Given the description of an element on the screen output the (x, y) to click on. 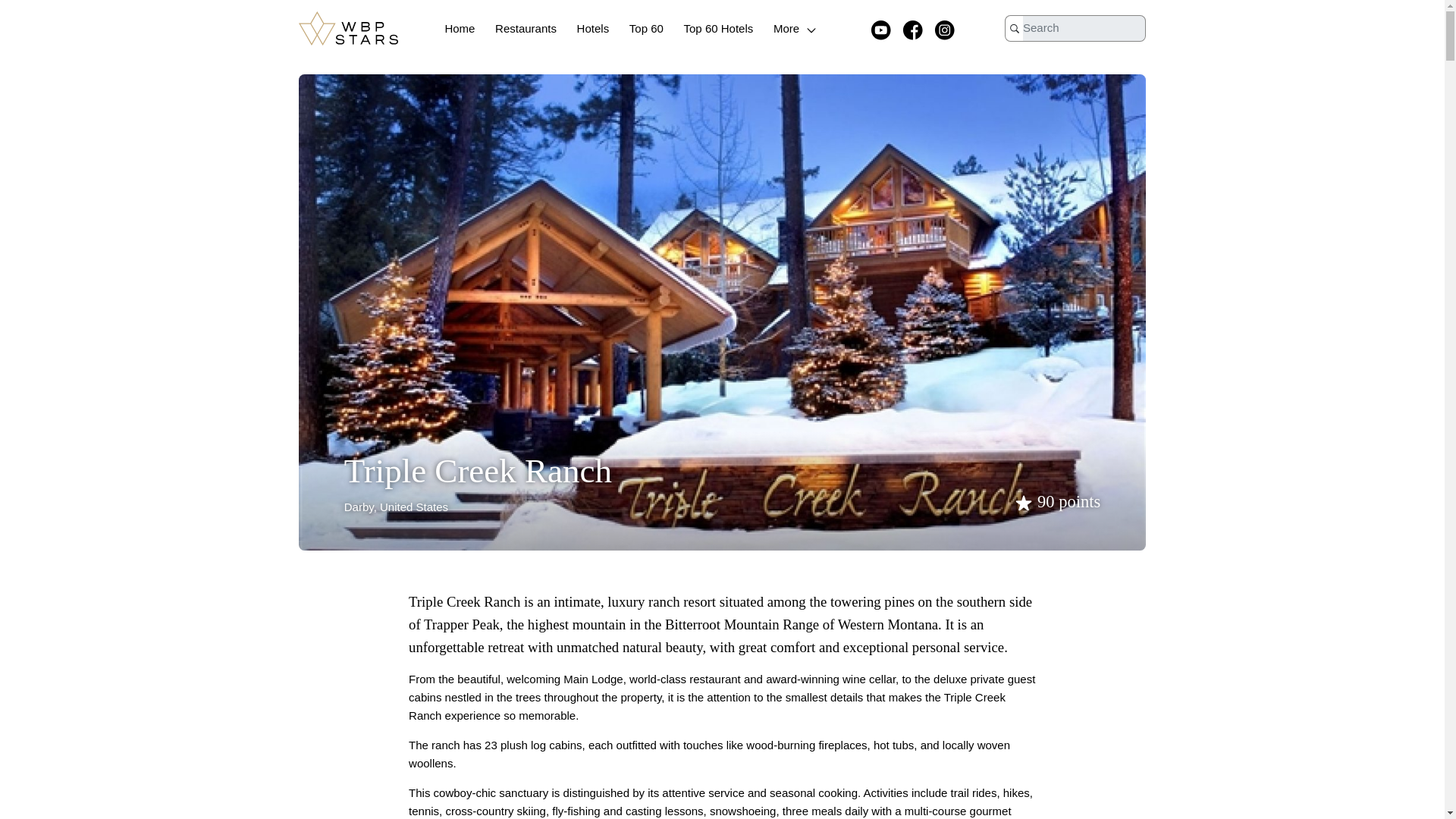
Hotels (593, 28)
90 points (1055, 501)
Top 60 (645, 28)
Restaurants (525, 28)
More (797, 28)
Top 60 Hotels (719, 28)
About our rating system (1055, 501)
